Given the description of an element on the screen output the (x, y) to click on. 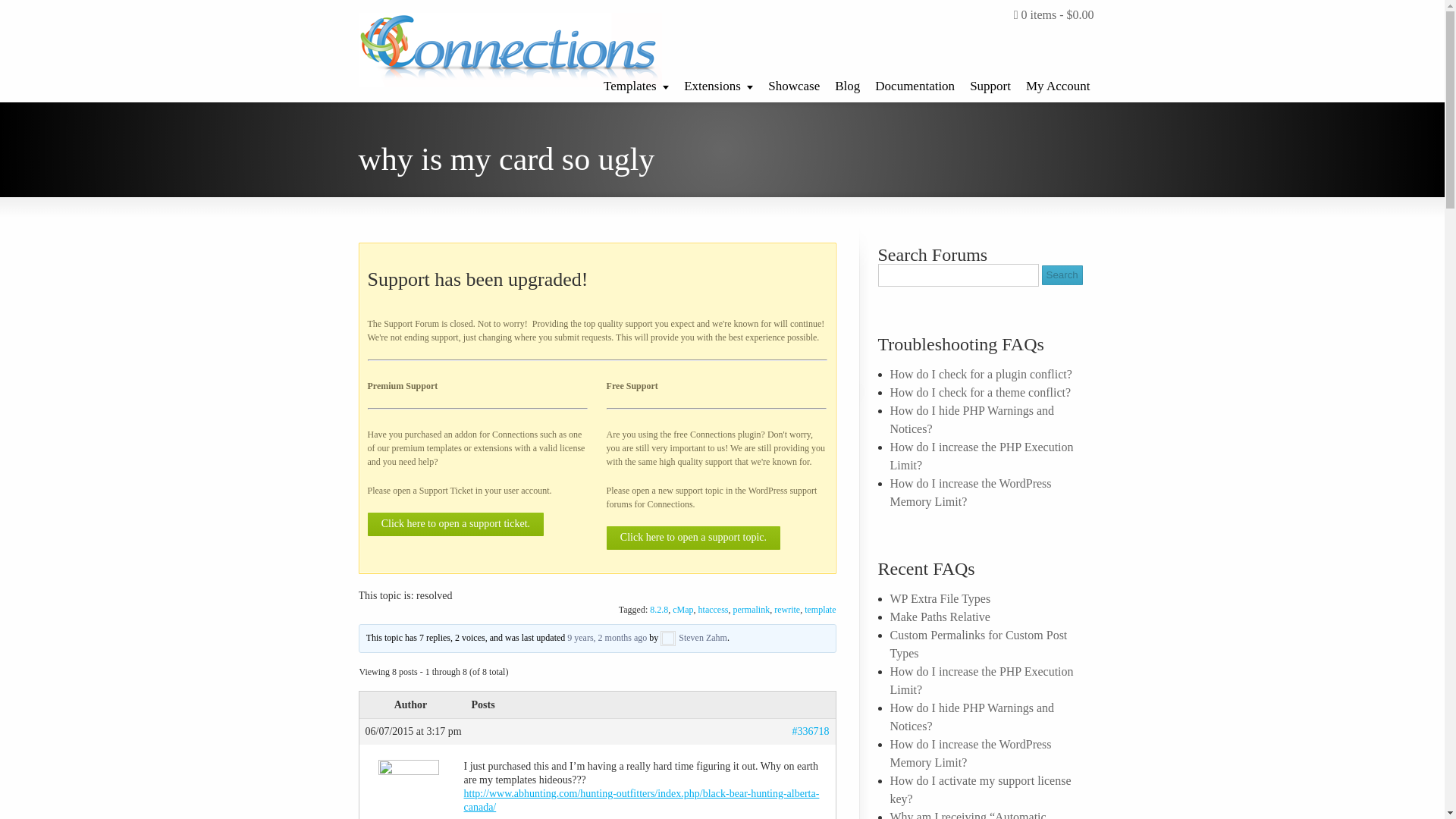
Templates (636, 81)
Showcase (793, 81)
Search (1062, 274)
Documentation (914, 81)
Reply To: why is my card so ugly (606, 637)
Extensions (718, 81)
Click here to open a support ticket. (454, 524)
Blog (847, 81)
WordPress support forums for Connections (711, 497)
Start shopping (1053, 14)
View Lynn Weintraub's profile (408, 792)
your user account (516, 490)
View Steven Zahm's profile (693, 637)
My Account (1057, 81)
Support (989, 81)
